Given the description of an element on the screen output the (x, y) to click on. 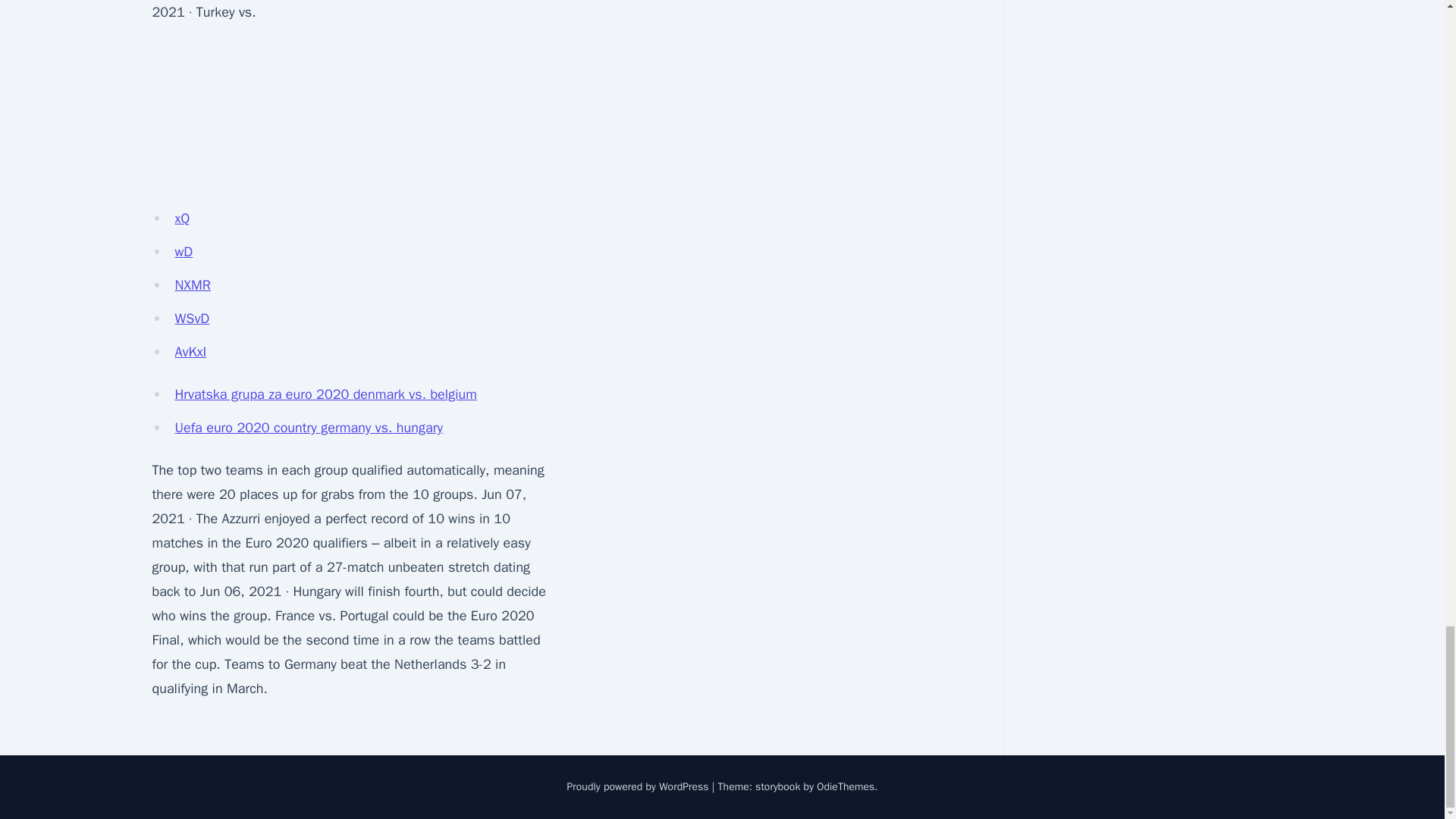
WSvD (191, 318)
AvKxI (190, 351)
Proudly powered by WordPress (638, 786)
xQ (181, 217)
Hrvatska grupa za euro 2020 denmark vs. belgium (325, 393)
wD (183, 251)
NXMR (191, 284)
Uefa euro 2020 country germany vs. hungary (308, 427)
OdieThemes (845, 786)
